Given the description of an element on the screen output the (x, y) to click on. 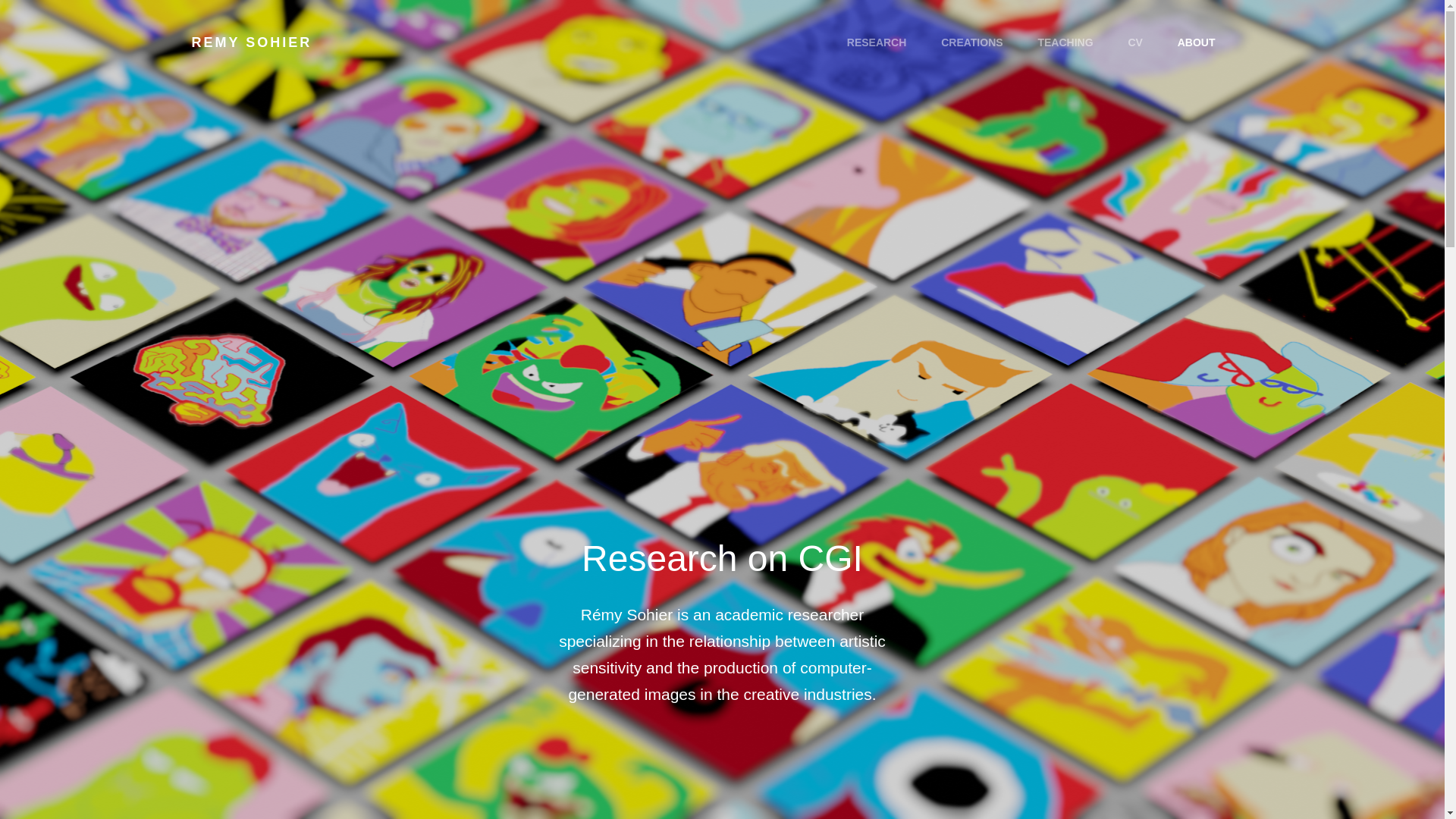
REMY SOHIER (250, 42)
ABOUT (1195, 42)
CREATIONS (971, 42)
RESEARCH (876, 42)
SEARCH (1249, 42)
TEACHING (1065, 42)
